Given the description of an element on the screen output the (x, y) to click on. 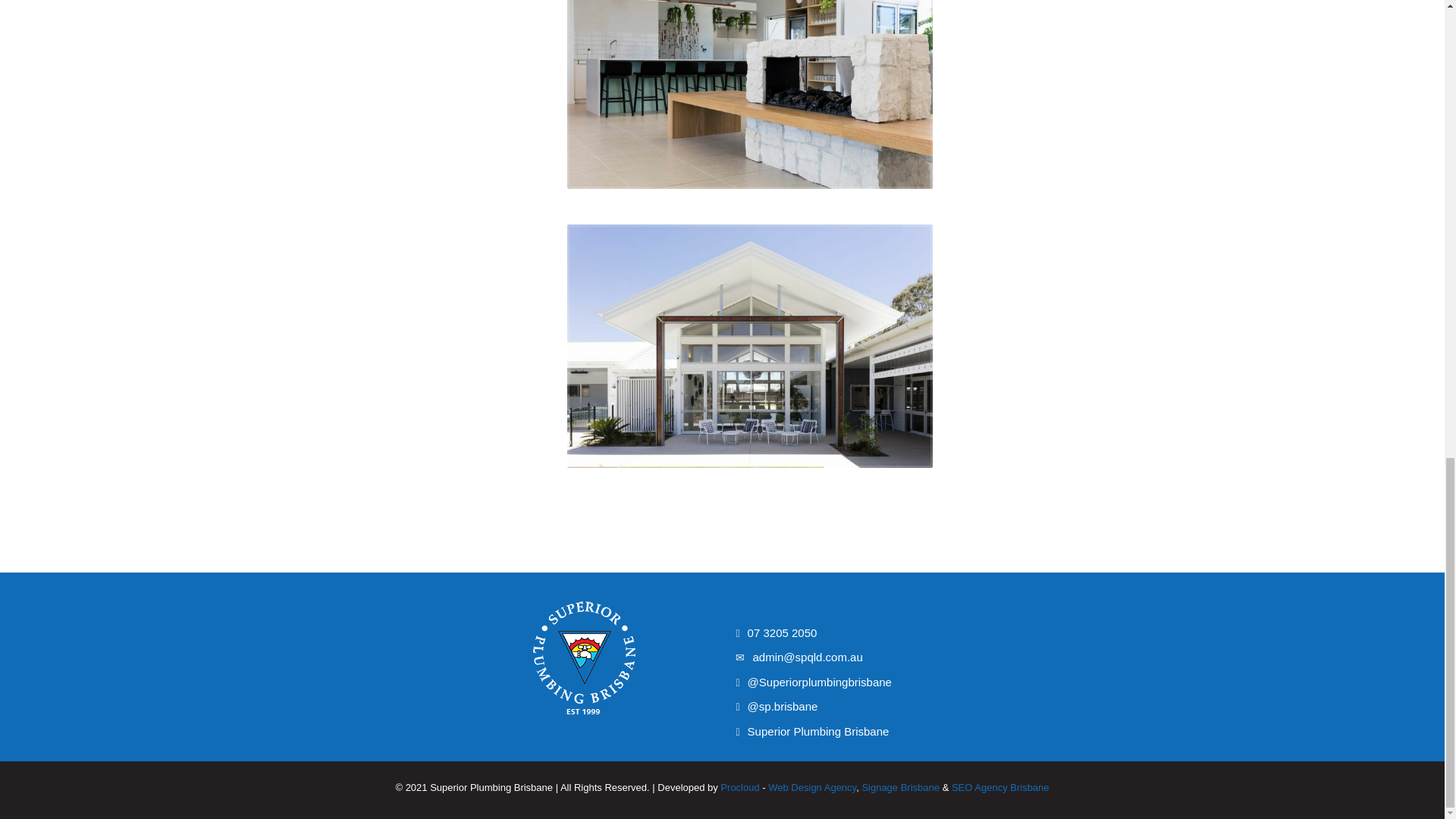
superior-plumbing-services-logo white (584, 658)
Procloud (739, 787)
07 3205 2050 (813, 632)
Web Design Agency (812, 787)
Signage Brisbane (900, 787)
Superior Plumbing Brisbane (813, 731)
